Given the description of an element on the screen output the (x, y) to click on. 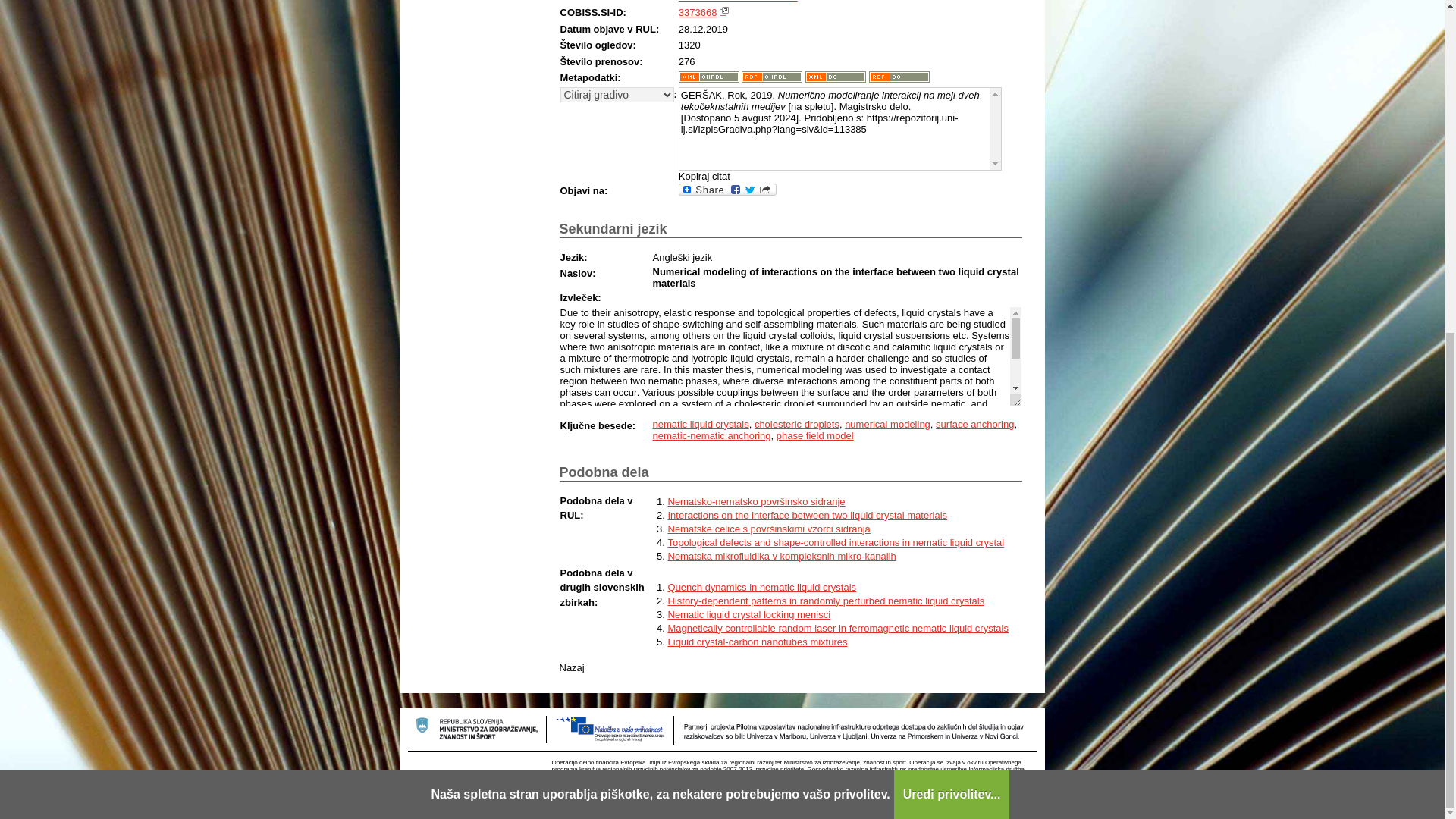
Uredi privolitev... (951, 240)
numerical modeling (887, 423)
Povezava se odpre v novem oknu (724, 10)
Izvoz v DC-RDF (899, 76)
Izvoz v DC-XML (835, 76)
nematic liquid crystals (700, 423)
Izvoz v XML (708, 76)
3373668 (697, 12)
Izvoz v RDF-CHPDL (771, 76)
cholesteric droplets (797, 423)
Kopiraj citat (704, 175)
